Given the description of an element on the screen output the (x, y) to click on. 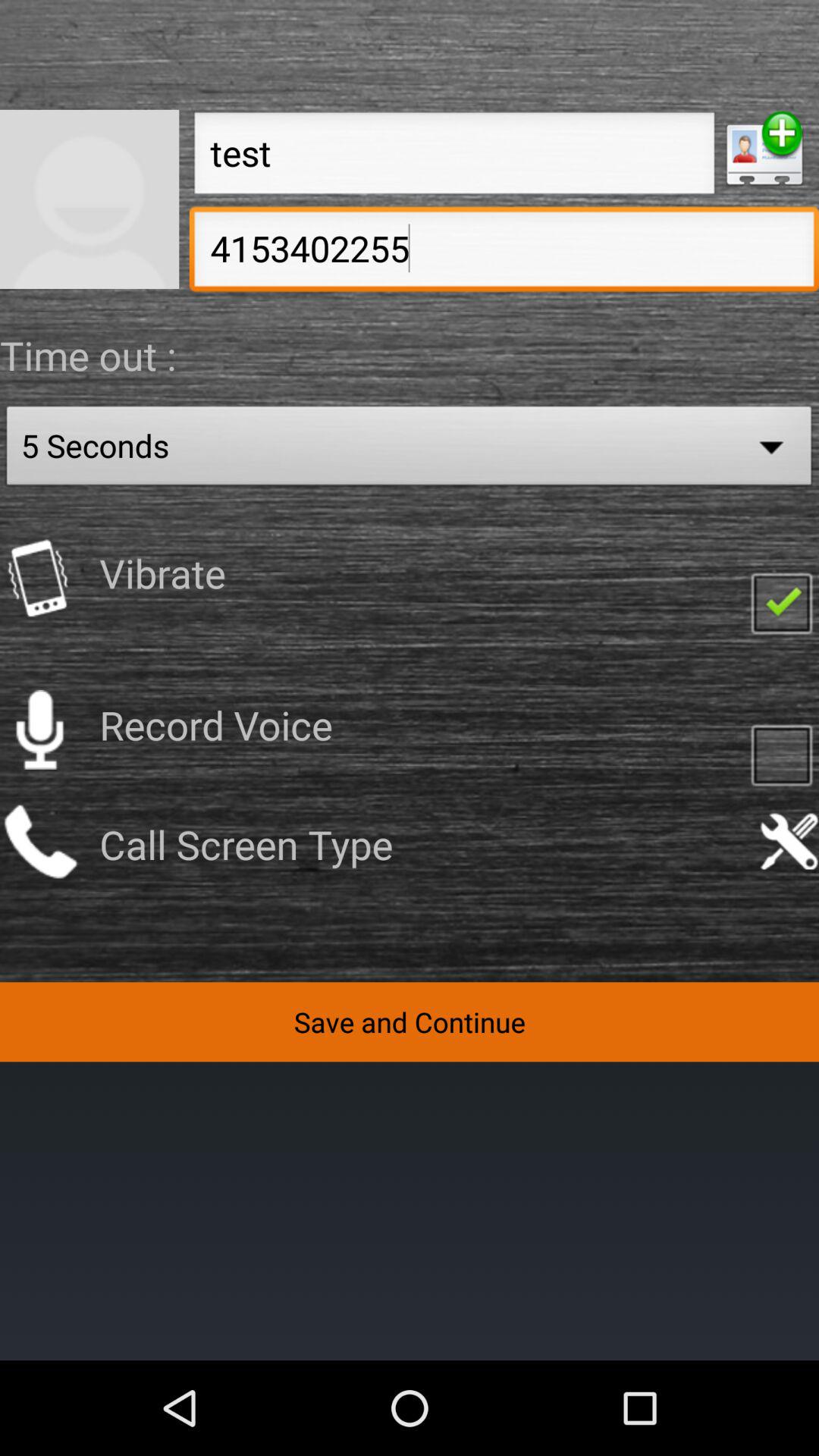
choose vibrate (781, 602)
